Given the description of an element on the screen output the (x, y) to click on. 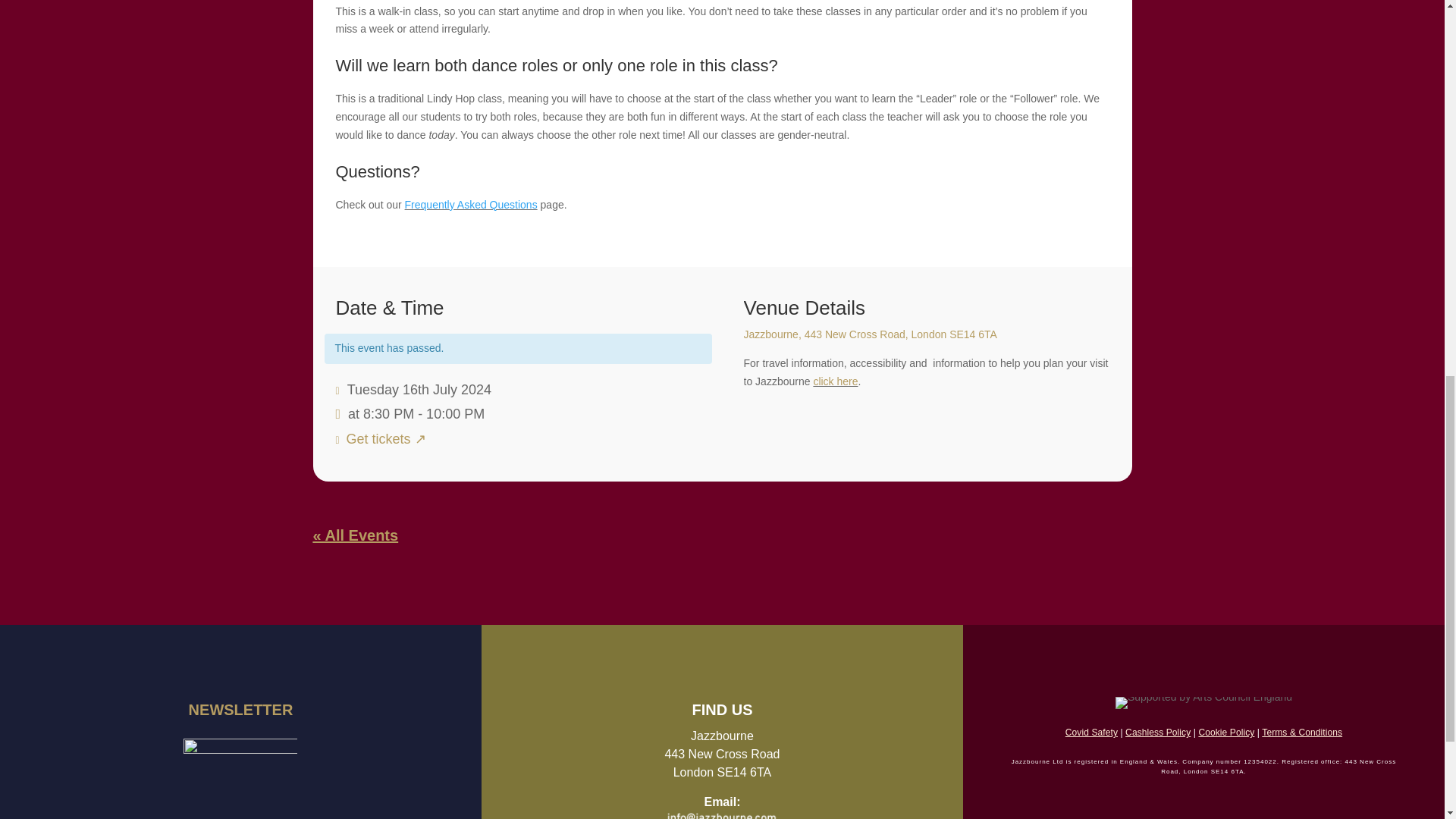
Covid Safety (1091, 732)
Cashless Policy (1158, 732)
click here (834, 381)
Frequently Asked Questions (470, 204)
Supported by Arts Council England (1203, 702)
Jazzbourne, 443 New Cross Road, London SE14 6TA (870, 334)
Cookie Policy (1225, 732)
